Given the description of an element on the screen output the (x, y) to click on. 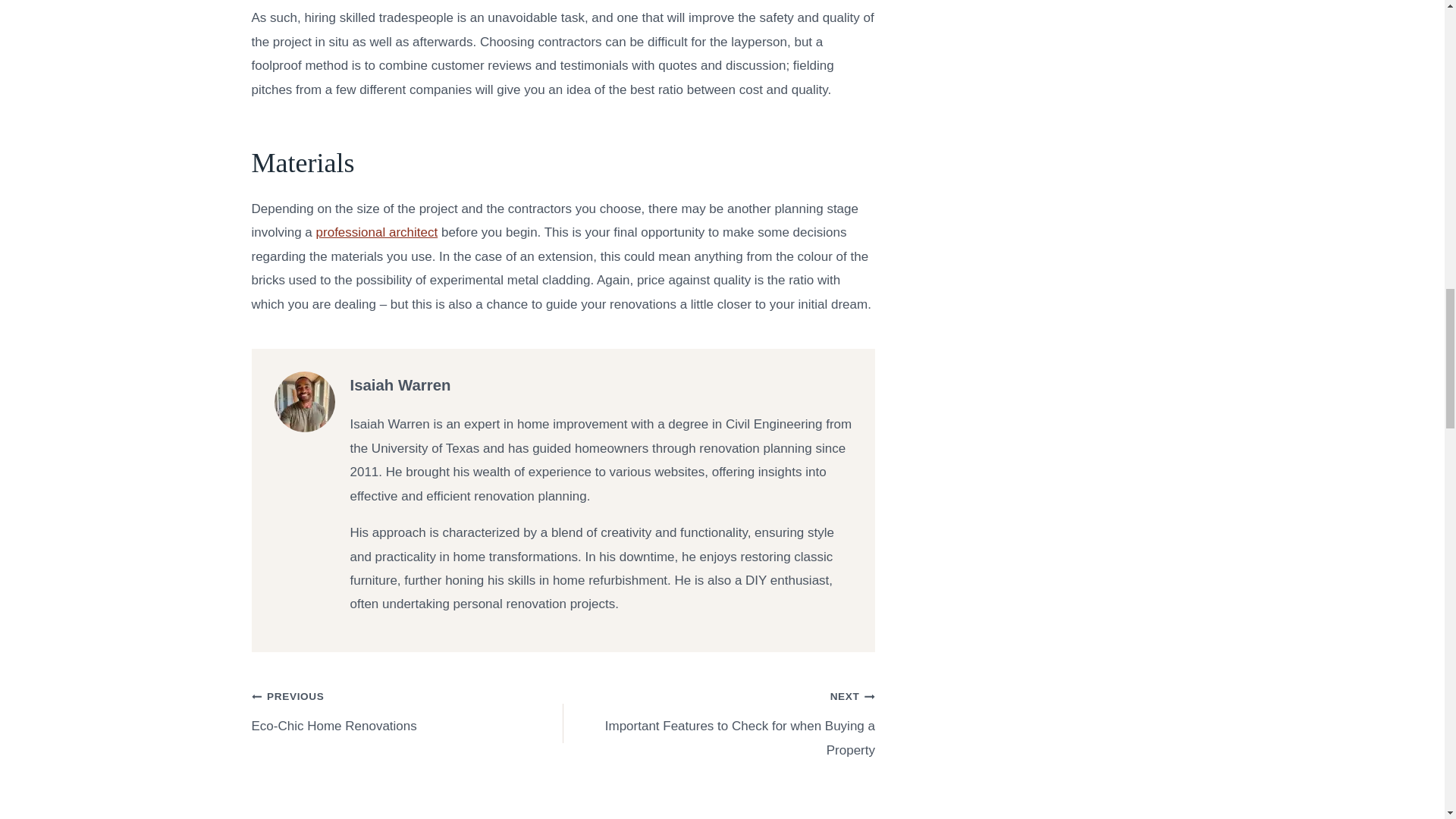
Isaiah Warren (400, 384)
professional architect (407, 710)
Posts by Isaiah Warren (376, 232)
